Given the description of an element on the screen output the (x, y) to click on. 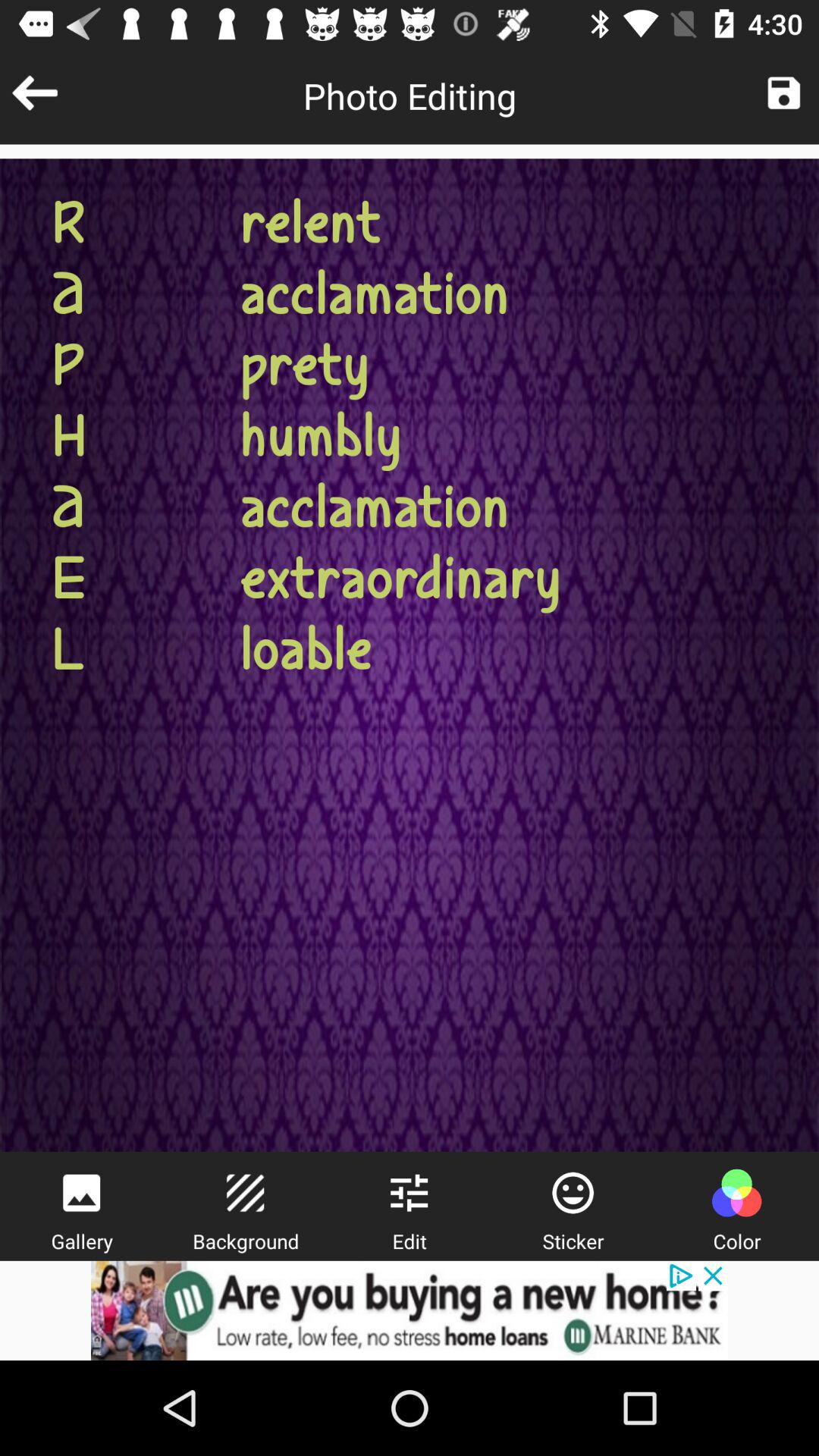
edits the photo (409, 1192)
